Given the description of an element on the screen output the (x, y) to click on. 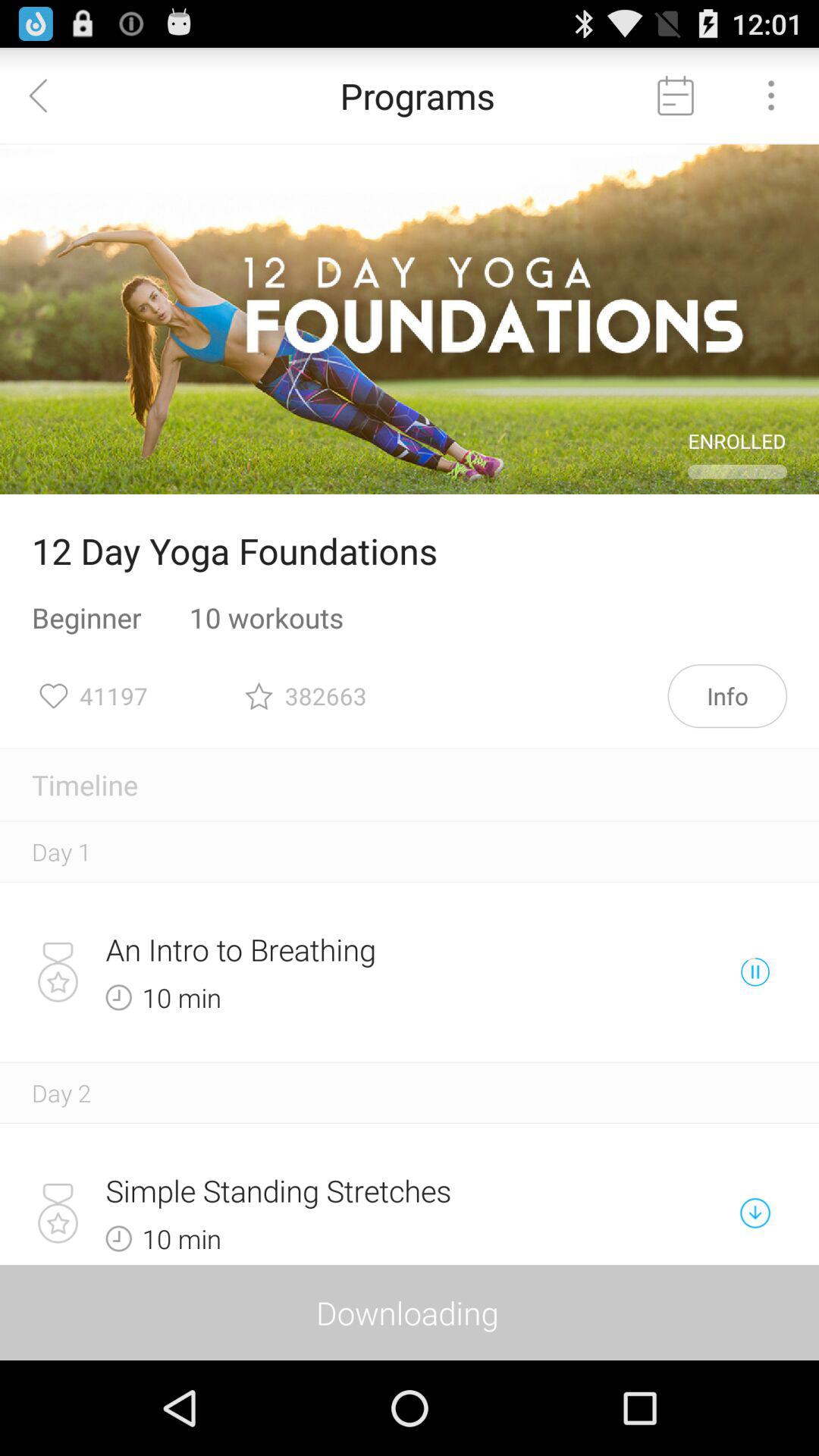
more information (771, 95)
